Given the description of an element on the screen output the (x, y) to click on. 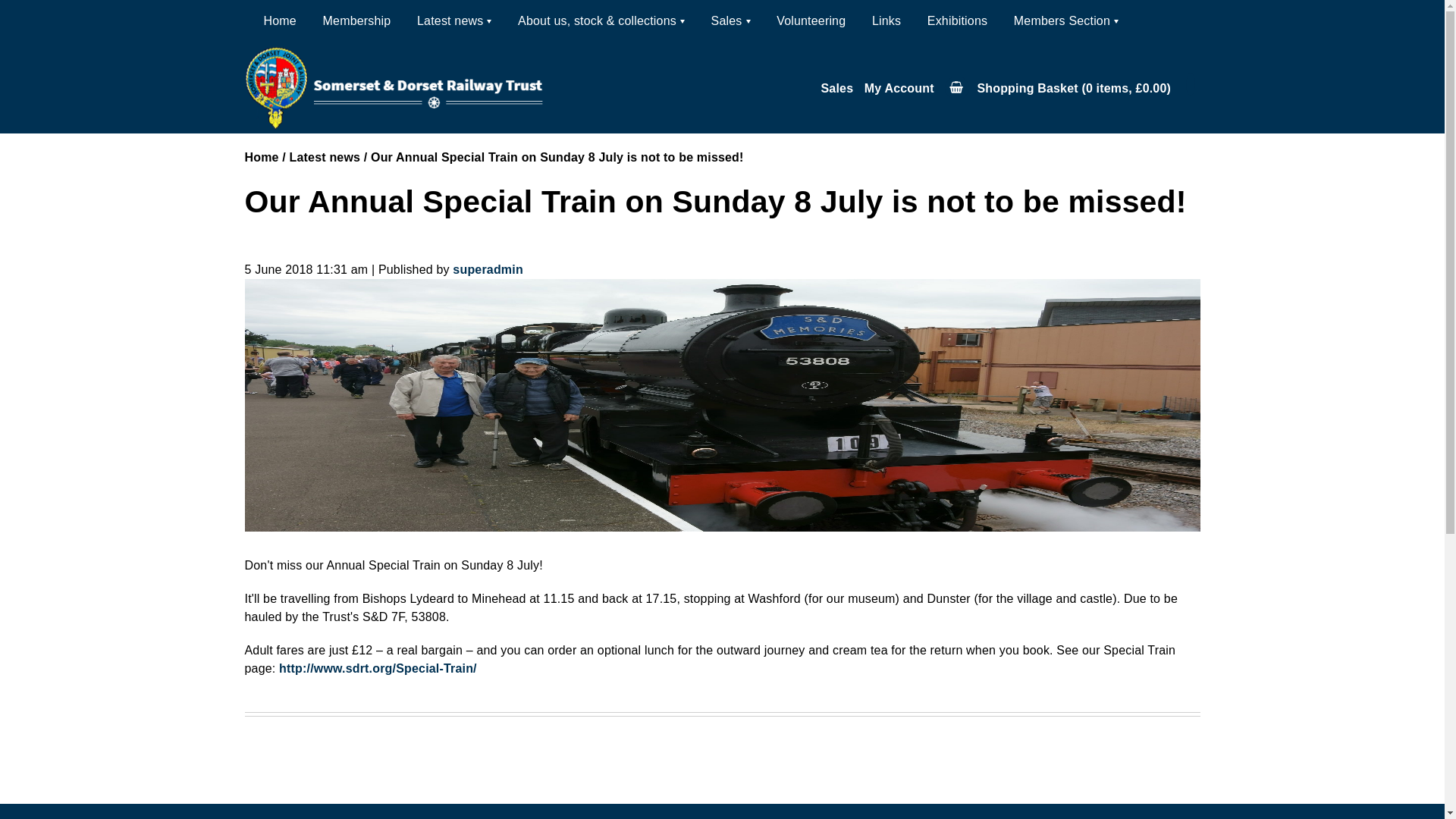
Volunteering (810, 21)
Members Section (1065, 21)
Latest news (454, 21)
Exhibitions (957, 21)
Sales (731, 21)
Home (280, 21)
Links (886, 21)
Posts by superadmin (487, 269)
Membership (357, 21)
